Given the description of an element on the screen output the (x, y) to click on. 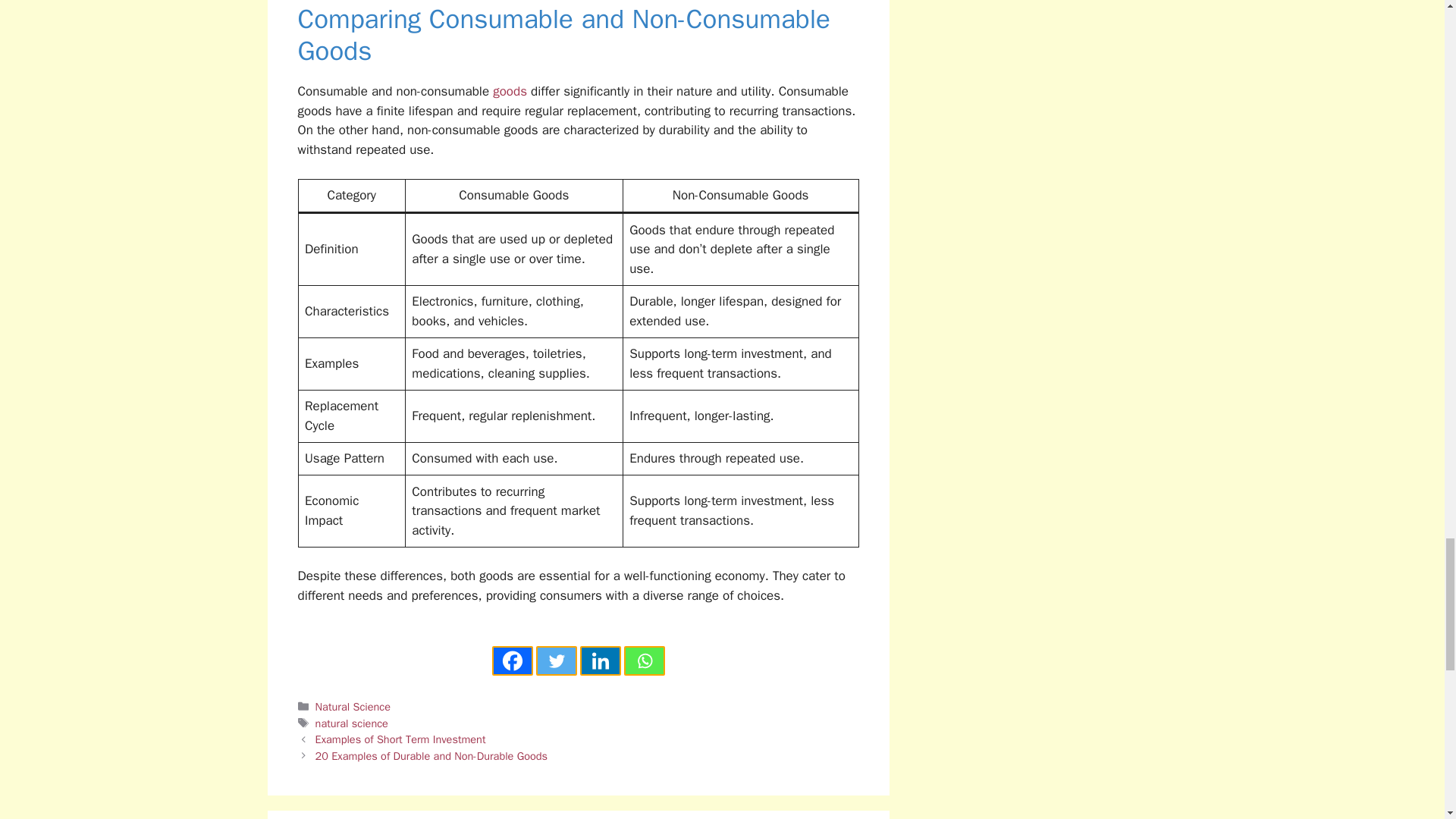
goods (512, 91)
Facebook (512, 660)
Natural Science (352, 706)
20 Examples of Durable and Non-Durable Goods (431, 755)
Examples of Short Term Investment (400, 739)
natural science (351, 723)
